Given the description of an element on the screen output the (x, y) to click on. 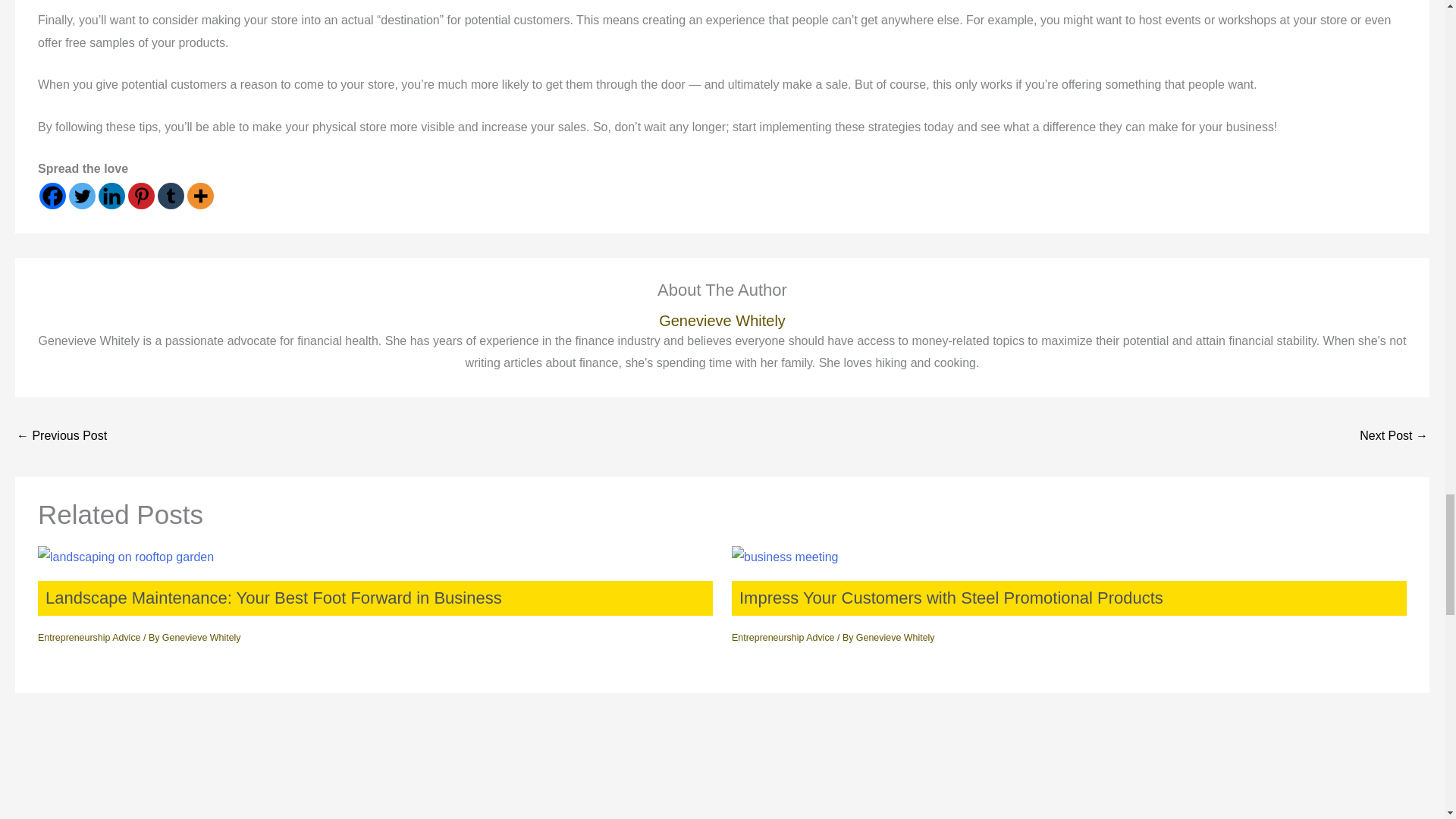
How the Technology Industry Can Help Save the Earth (61, 437)
Landscape Maintenance: Your Best Foot Forward in Business (273, 597)
Entrepreneurship Advice (89, 637)
Pinterest (141, 195)
Tumblr (170, 195)
Entrepreneurship Advice (783, 637)
Impress Your Customers with Steel Promotional Products (951, 597)
How Businesses Can Reduce Costs and Increase Income (1393, 437)
Linkedin (112, 195)
View all posts by Genevieve Whitely (201, 637)
Genevieve Whitely (895, 637)
View all posts by Genevieve Whitely (895, 637)
More (200, 195)
Facebook (52, 195)
Twitter (82, 195)
